Given the description of an element on the screen output the (x, y) to click on. 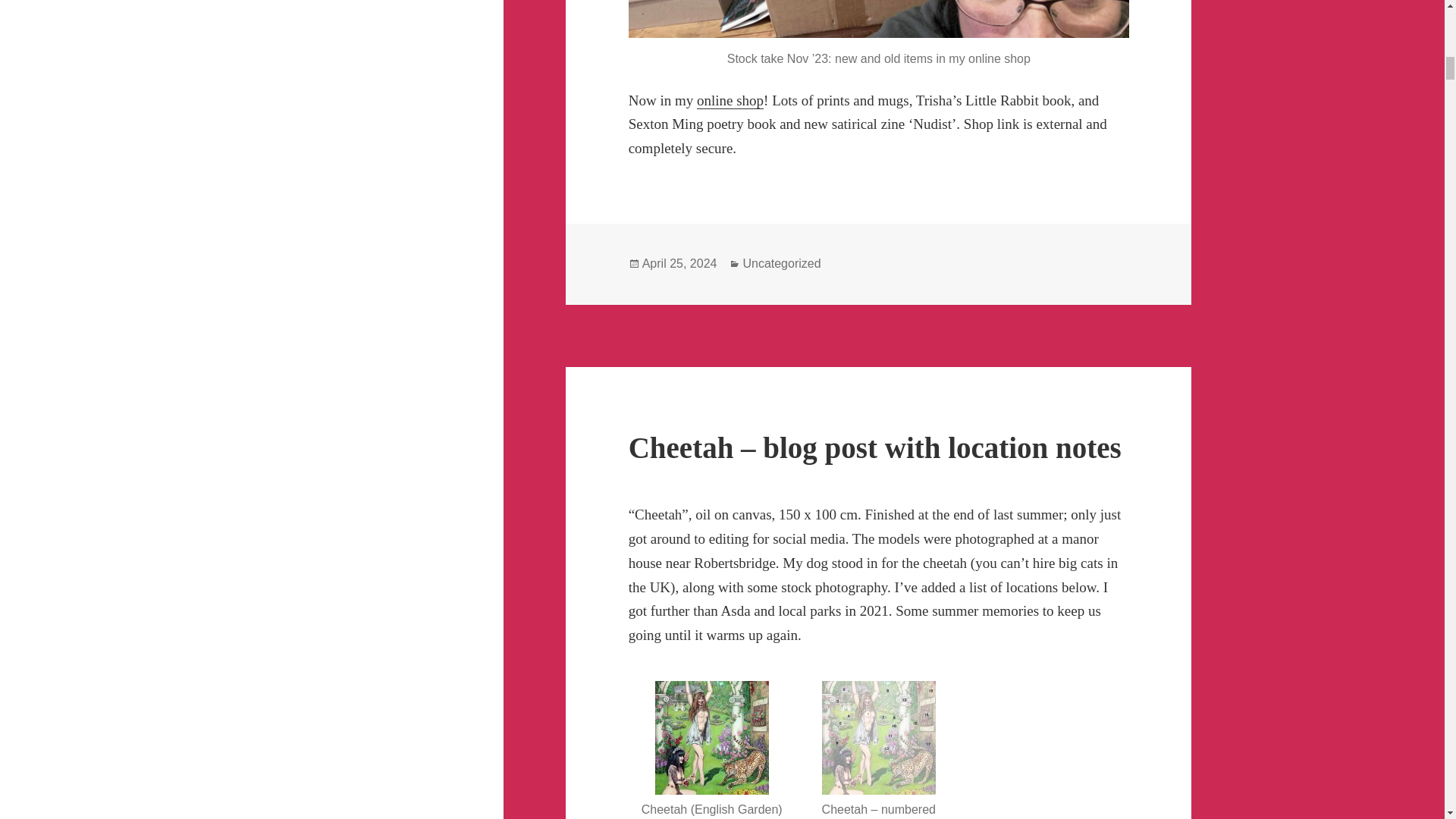
online shop (729, 100)
